Given the description of an element on the screen output the (x, y) to click on. 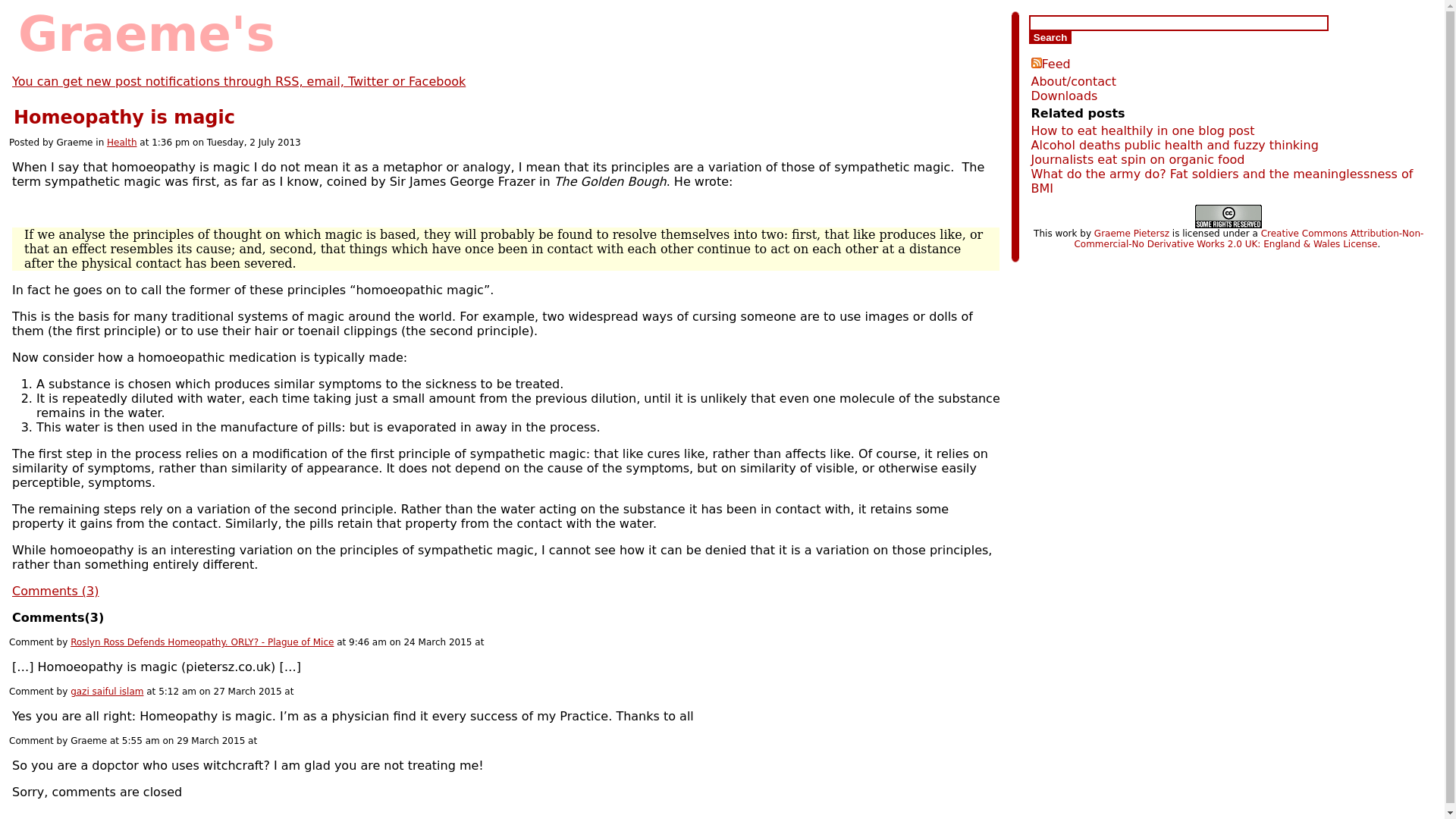
Graeme's (146, 33)
Feed (1050, 63)
gazi saiful islam (105, 691)
Homeopathy is magic (123, 117)
Alcohol deaths public health and fuzzy thinking (1174, 145)
Graeme Pietersz (1131, 233)
Roslyn Ross Defends Homeopathy. ORLY? - Plague of Mice (201, 642)
Journalists eat spin on organic food (1137, 159)
How to eat healthily in one blog post (1142, 130)
Downloads (1063, 95)
Search (1050, 37)
Health (121, 142)
Search (1050, 37)
